Given the description of an element on the screen output the (x, y) to click on. 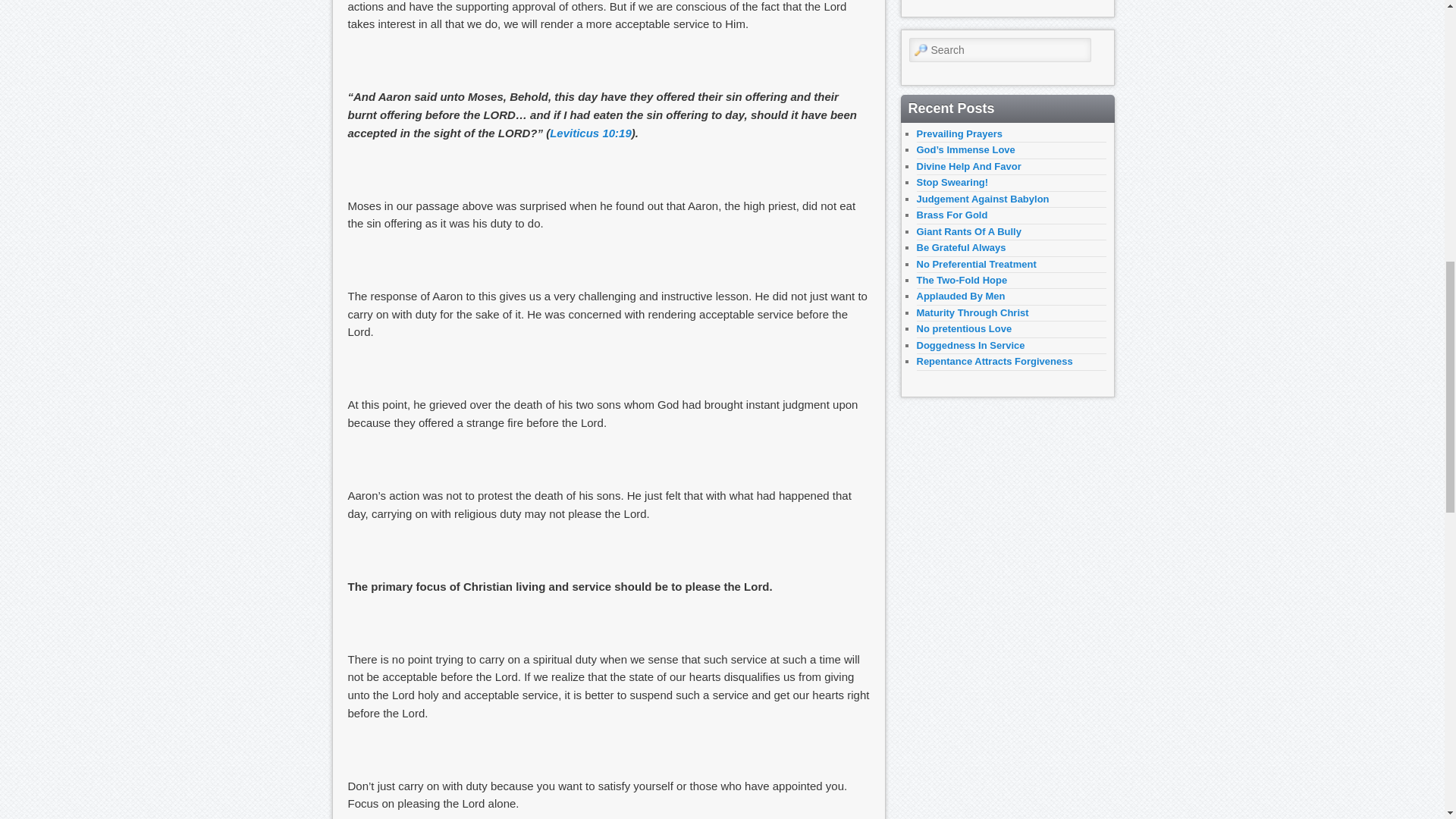
Judgement Against Babylon (981, 198)
Prevailing Prayers (958, 133)
Brass For Gold (951, 214)
Divine Help And Favor (967, 165)
Giant Rants Of A Bully (967, 231)
No Preferential Treatment (975, 263)
Be Grateful Always (960, 247)
Leviticus 10:19 (590, 132)
Stop Swearing! (951, 182)
